Given the description of an element on the screen output the (x, y) to click on. 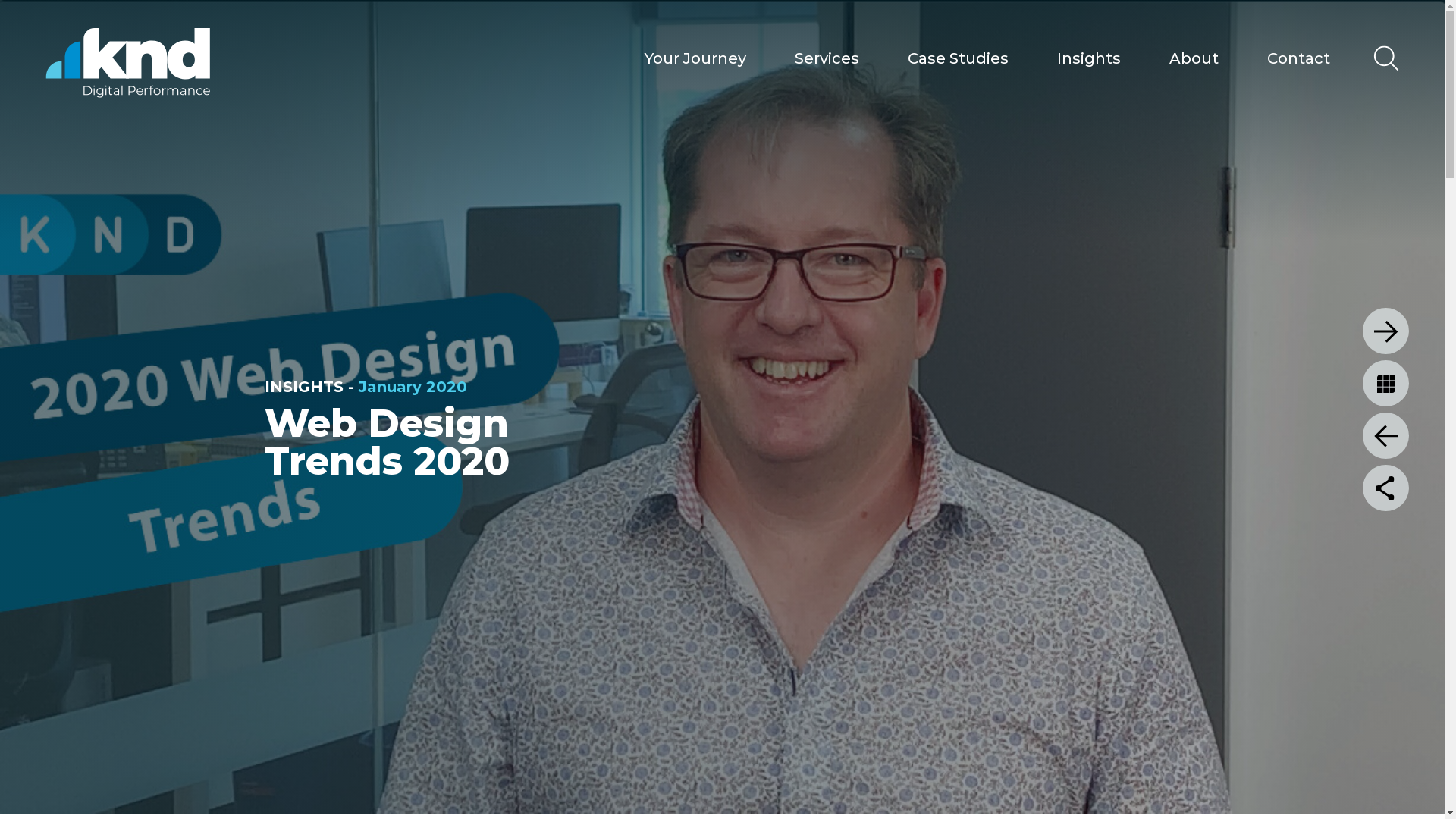
Contact Element type: text (1298, 57)
Insights Element type: text (1088, 57)
Services Element type: text (826, 57)
About Element type: text (1193, 57)
Case Studies Element type: text (957, 57)
KND Digital Element type: hover (127, 62)
Your Journey Element type: text (695, 57)
